Given the description of an element on the screen output the (x, y) to click on. 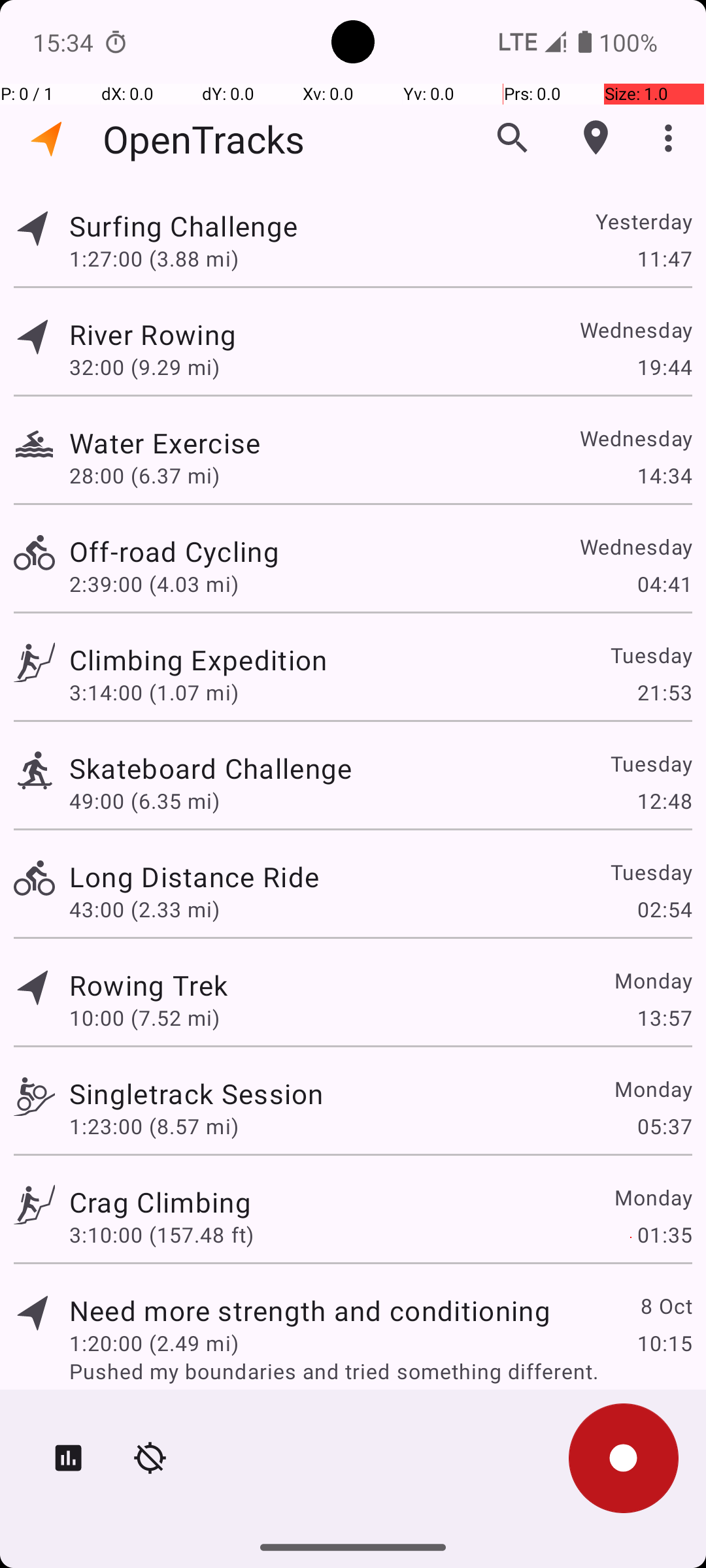
Surfing Challenge Element type: android.widget.TextView (183, 225)
1:27:00 (3.88 mi) Element type: android.widget.TextView (153, 258)
11:47 Element type: android.widget.TextView (664, 258)
River Rowing Element type: android.widget.TextView (152, 333)
32:00 (9.29 mi) Element type: android.widget.TextView (144, 366)
19:44 Element type: android.widget.TextView (664, 366)
Water Exercise Element type: android.widget.TextView (164, 442)
28:00 (6.37 mi) Element type: android.widget.TextView (144, 475)
14:34 Element type: android.widget.TextView (664, 475)
Off-road Cycling Element type: android.widget.TextView (173, 550)
2:39:00 (4.03 mi) Element type: android.widget.TextView (153, 583)
04:41 Element type: android.widget.TextView (664, 583)
Climbing Expedition Element type: android.widget.TextView (197, 659)
3:14:00 (1.07 mi) Element type: android.widget.TextView (153, 692)
21:53 Element type: android.widget.TextView (664, 692)
Skateboard Challenge Element type: android.widget.TextView (210, 767)
49:00 (6.35 mi) Element type: android.widget.TextView (144, 800)
12:48 Element type: android.widget.TextView (664, 800)
Long Distance Ride Element type: android.widget.TextView (193, 876)
43:00 (2.33 mi) Element type: android.widget.TextView (144, 909)
02:54 Element type: android.widget.TextView (664, 909)
Rowing Trek Element type: android.widget.TextView (148, 984)
10:00 (7.52 mi) Element type: android.widget.TextView (144, 1017)
13:57 Element type: android.widget.TextView (664, 1017)
Singletrack Session Element type: android.widget.TextView (196, 1092)
1:23:00 (8.57 mi) Element type: android.widget.TextView (153, 1125)
05:37 Element type: android.widget.TextView (664, 1125)
Crag Climbing Element type: android.widget.TextView (159, 1201)
3:10:00 (157.48 ft) Element type: android.widget.TextView (161, 1234)
01:35 Element type: android.widget.TextView (664, 1234)
Need more strength and conditioning Element type: android.widget.TextView (309, 1309)
1:20:00 (2.49 mi) Element type: android.widget.TextView (153, 1342)
10:15 Element type: android.widget.TextView (664, 1342)
Pushed my boundaries and tried something different. Element type: android.widget.TextView (380, 1370)
